Given the description of an element on the screen output the (x, y) to click on. 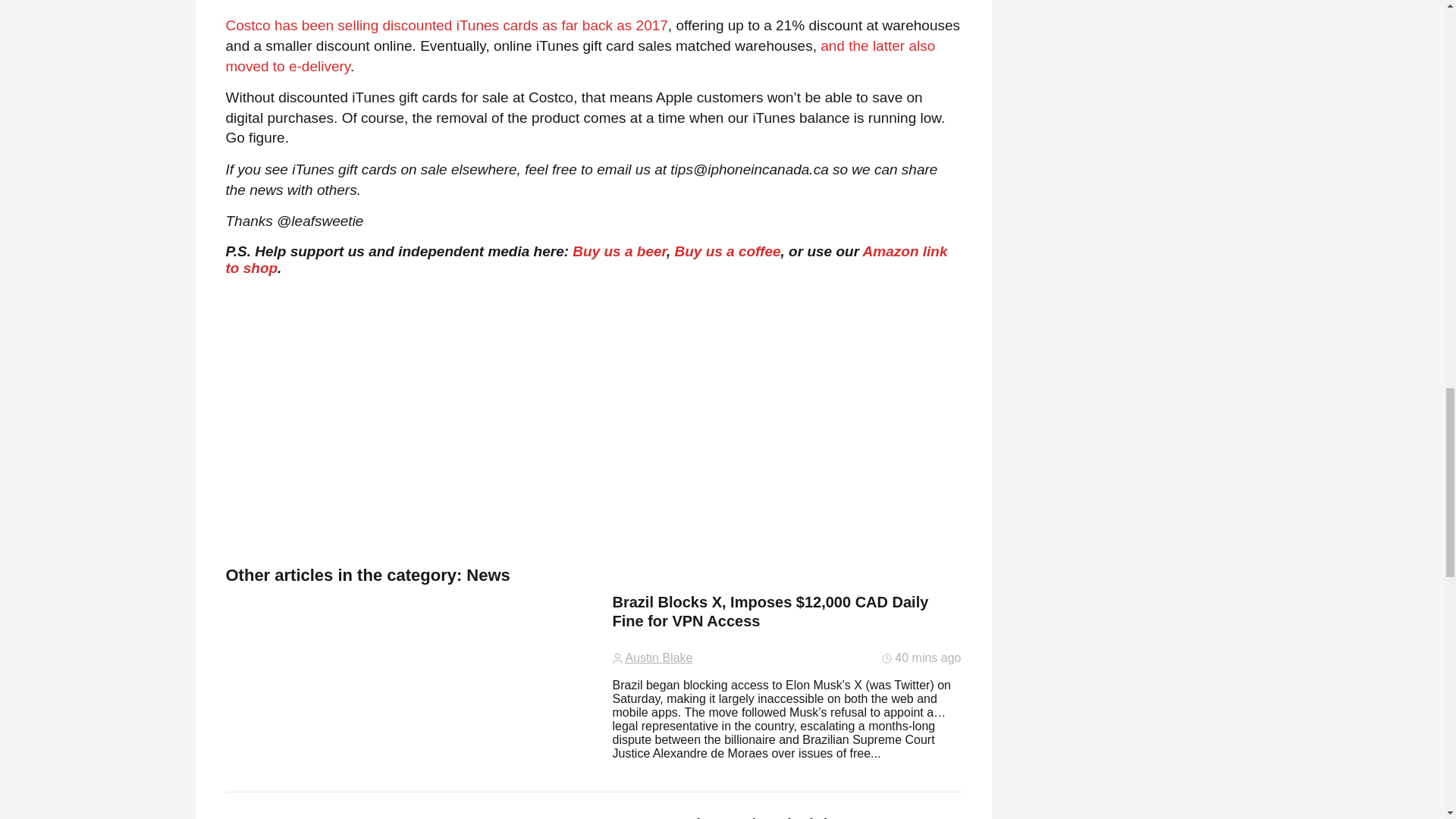
Amazon link to shop (586, 259)
and the latter also moved to e-delivery (580, 55)
Buy us a beer (619, 251)
Buy us a coffee (727, 251)
